Given the description of an element on the screen output the (x, y) to click on. 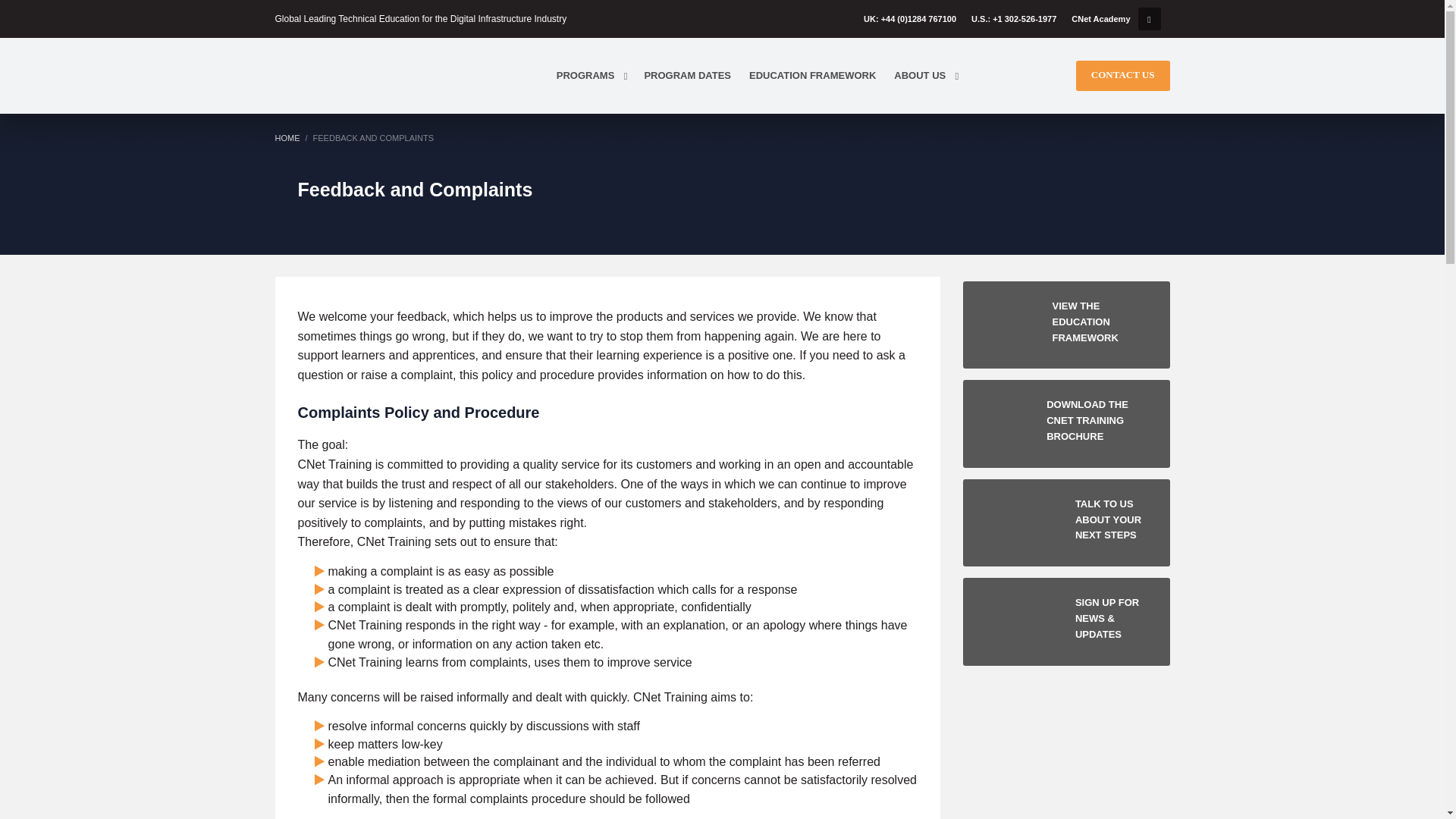
Subscribe (1066, 621)
PROGRAMS (590, 76)
CNet Academy (1100, 18)
Subscribe (1066, 522)
Framework (1066, 324)
Framework (1066, 423)
Contact Us (1122, 75)
